Given the description of an element on the screen output the (x, y) to click on. 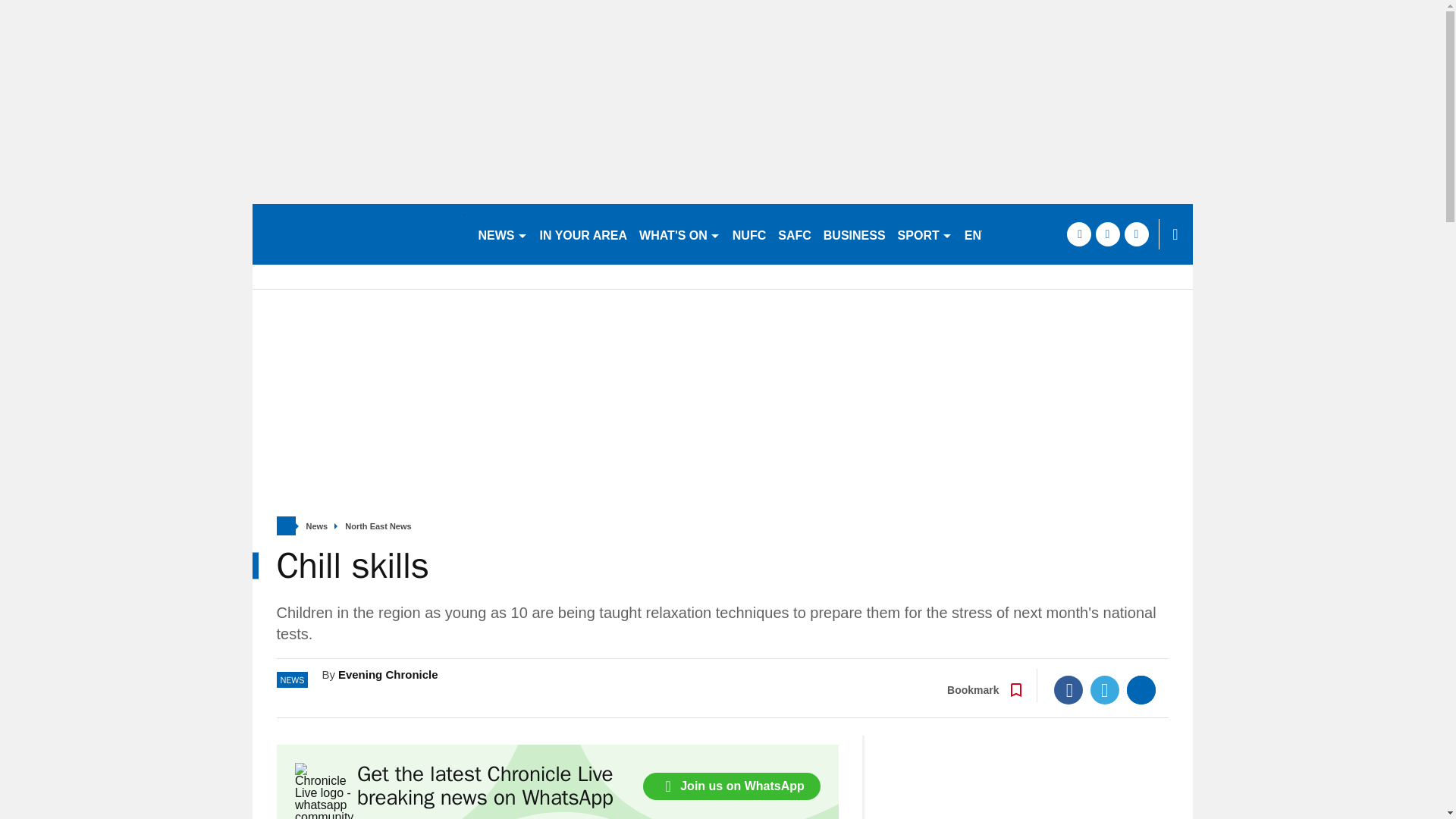
NEWS (501, 233)
facebook (1077, 233)
WHAT'S ON (679, 233)
Twitter (1104, 689)
BUSINESS (853, 233)
twitter (1106, 233)
instagram (1136, 233)
Facebook (1068, 689)
nechronicle (357, 233)
SPORT (924, 233)
IN YOUR AREA (583, 233)
